Given the description of an element on the screen output the (x, y) to click on. 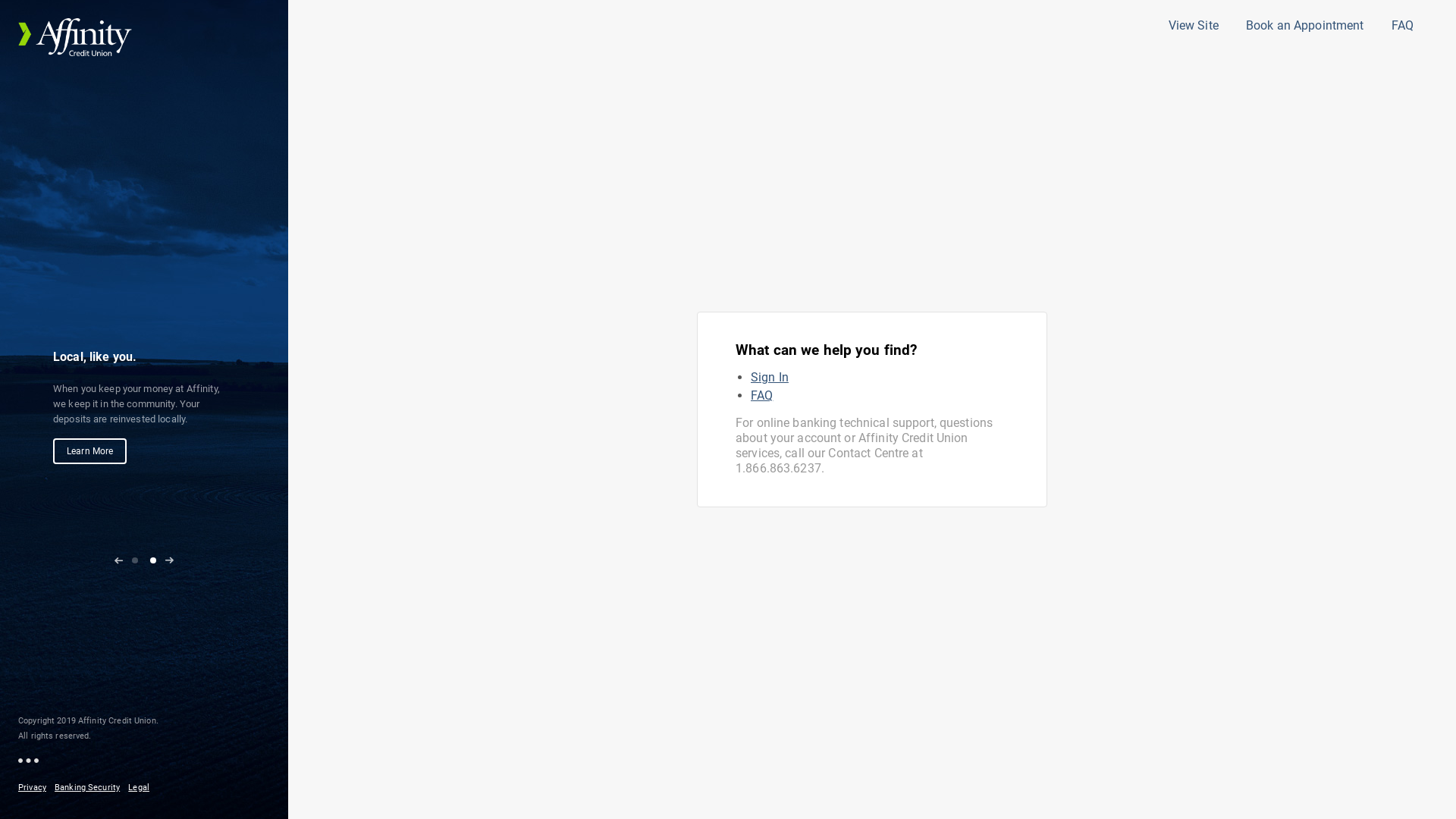
Learn More Element type: text (89, 481)
View Site Element type: text (1193, 25)
Sign In Element type: text (769, 377)
Banking Security Element type: text (89, 787)
Legal Element type: text (141, 787)
Book an Appointment Element type: text (1304, 25)
FAQ Element type: text (1402, 25)
Privacy Element type: text (35, 787)
FAQ Element type: text (761, 395)
